Given the description of an element on the screen output the (x, y) to click on. 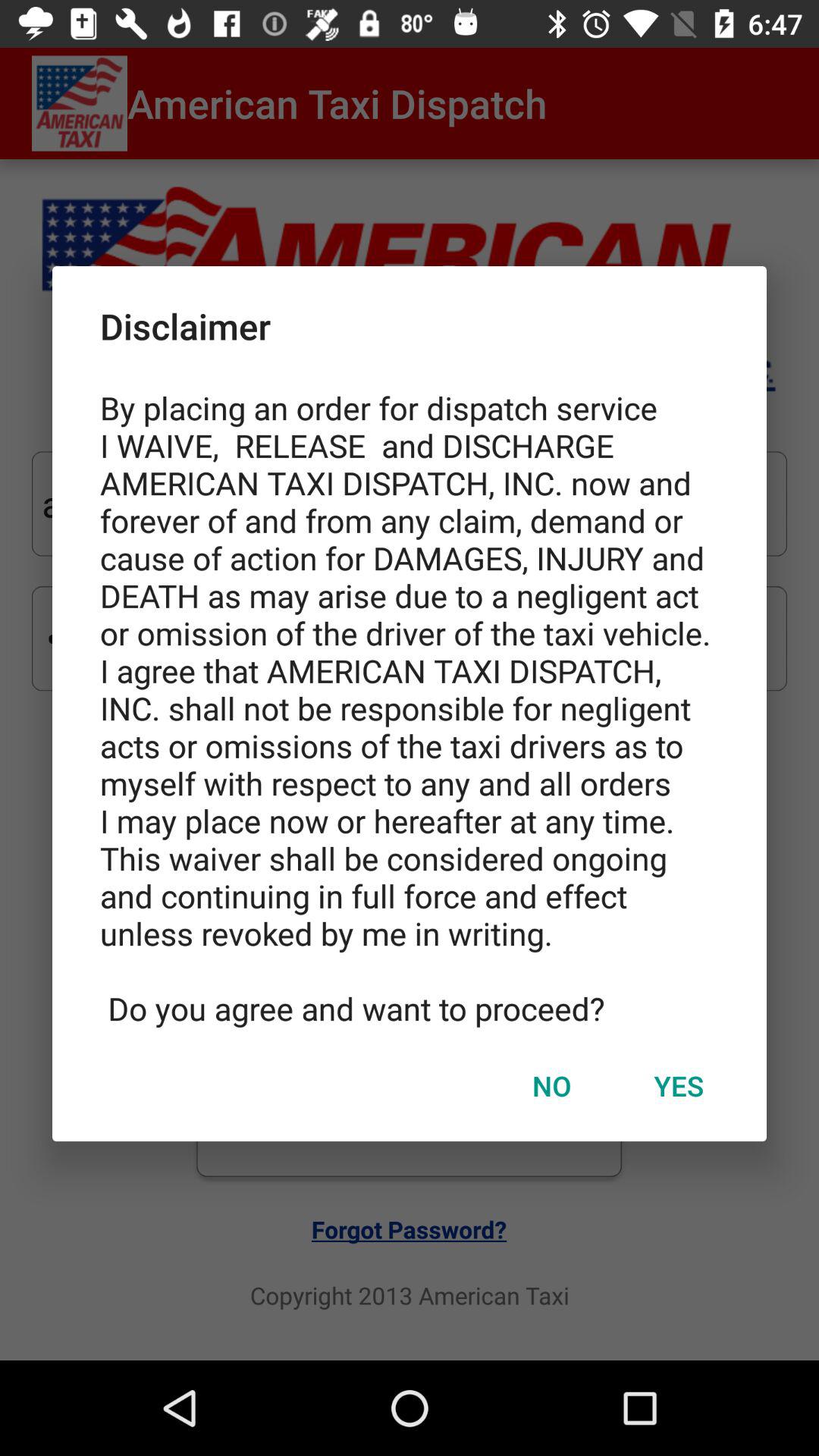
turn on the item below the by placing an item (551, 1085)
